Given the description of an element on the screen output the (x, y) to click on. 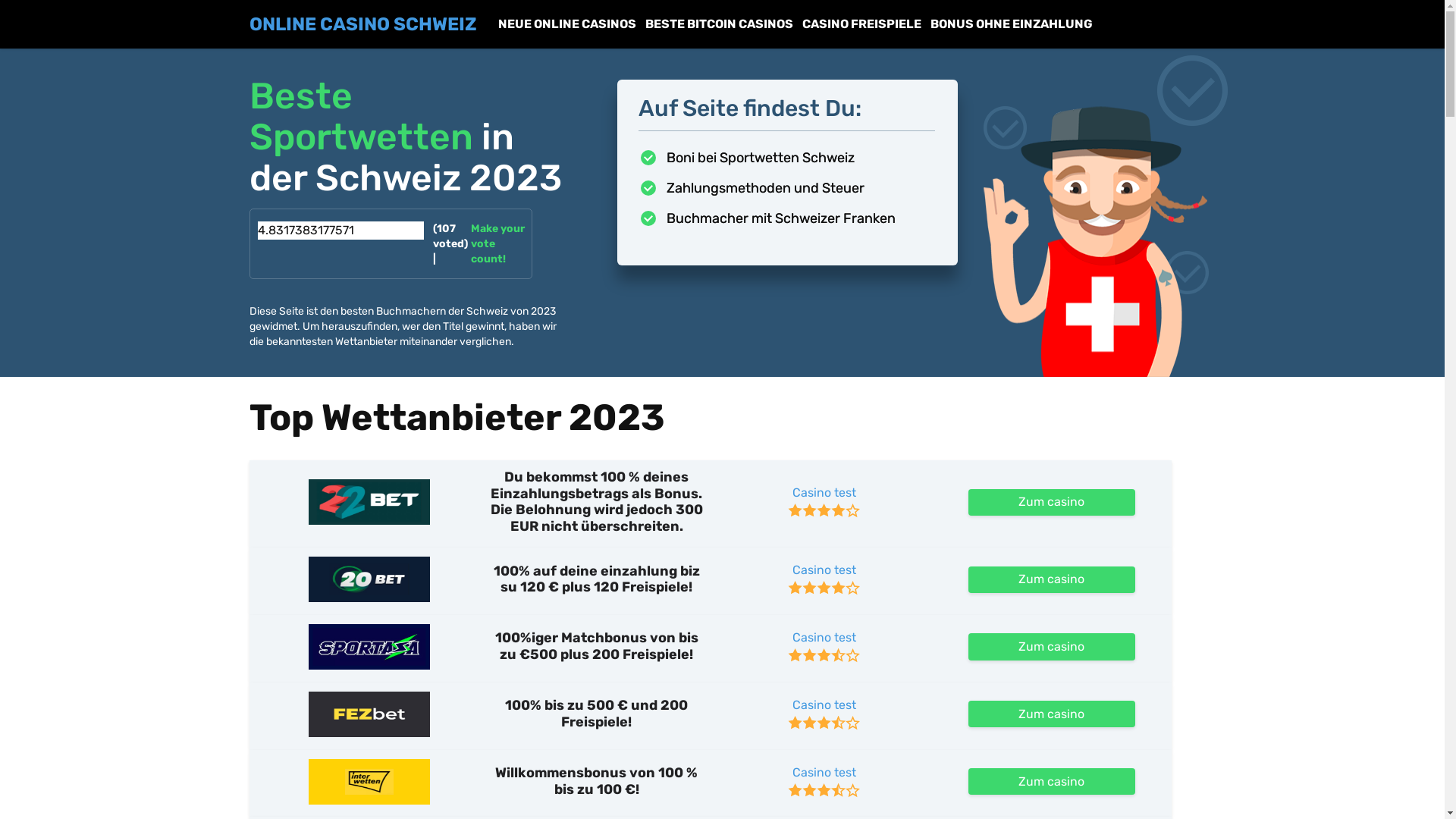
BESTE BITCOIN CASINOS Element type: text (718, 24)
Casino test Element type: text (823, 637)
CASINO FREISPIELE Element type: text (861, 24)
Zum casino Element type: text (1050, 646)
Boni bei Sportwetten Schweiz Element type: text (786, 157)
Casino test Element type: text (823, 771)
Casino test Element type: text (823, 570)
ONLINE CASINO SCHWEIZ Element type: text (362, 23)
Zum casino Element type: text (1050, 502)
Casino test Element type: text (823, 705)
Zum casino Element type: text (1050, 579)
BONUS OHNE EINZAHLUNG Element type: text (1010, 24)
Zahlungsmethoden und Steuer Element type: text (786, 187)
NEUE ONLINE CASINOS Element type: text (566, 24)
Buchmacher mit Schweizer Franken Element type: text (786, 218)
Casino test Element type: text (823, 492)
Zum casino Element type: text (1050, 713)
Zum casino Element type: text (1050, 781)
